Given the description of an element on the screen output the (x, y) to click on. 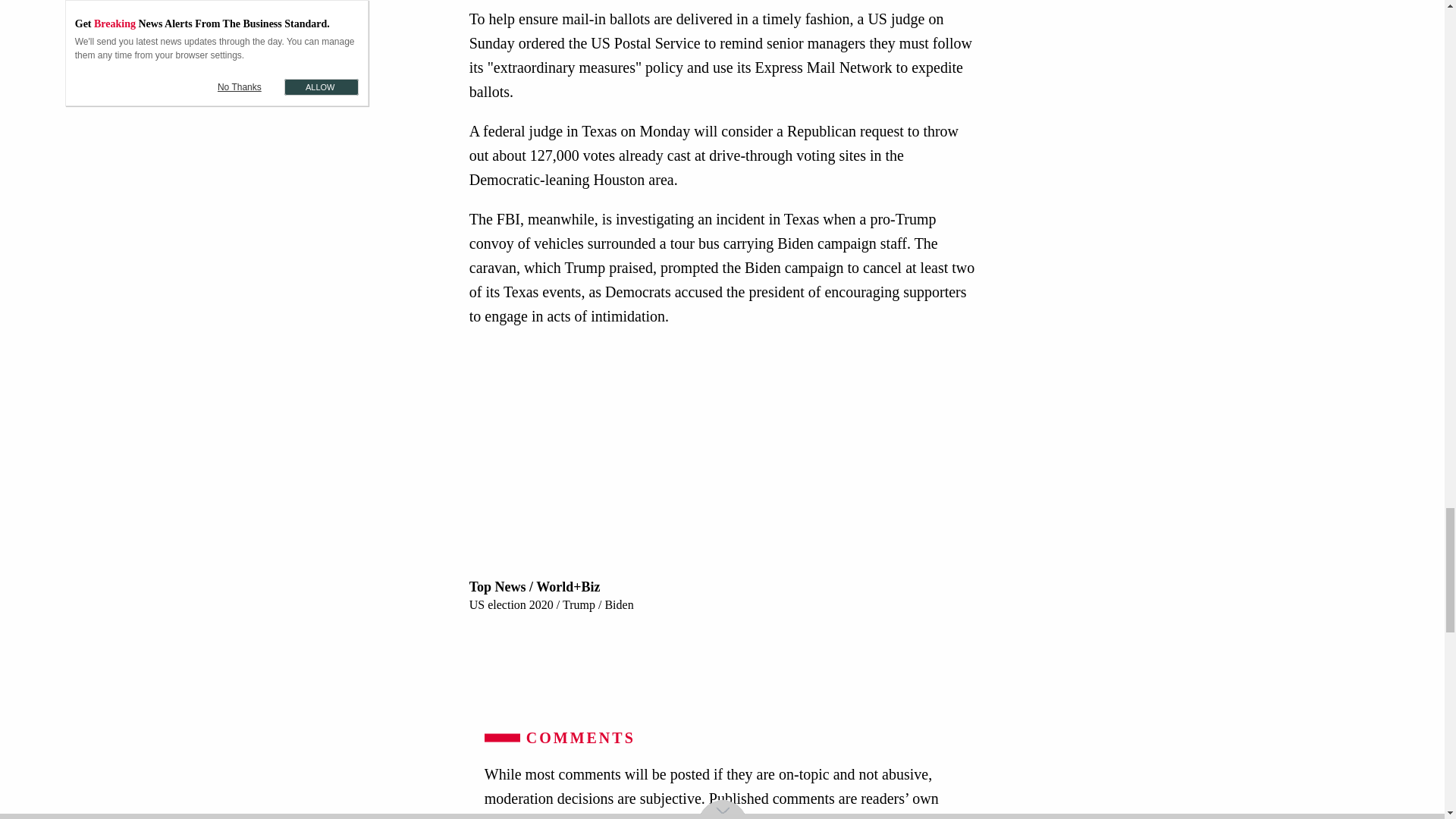
3rd party ad content (726, 663)
3rd party ad content (721, 468)
